Given the description of an element on the screen output the (x, y) to click on. 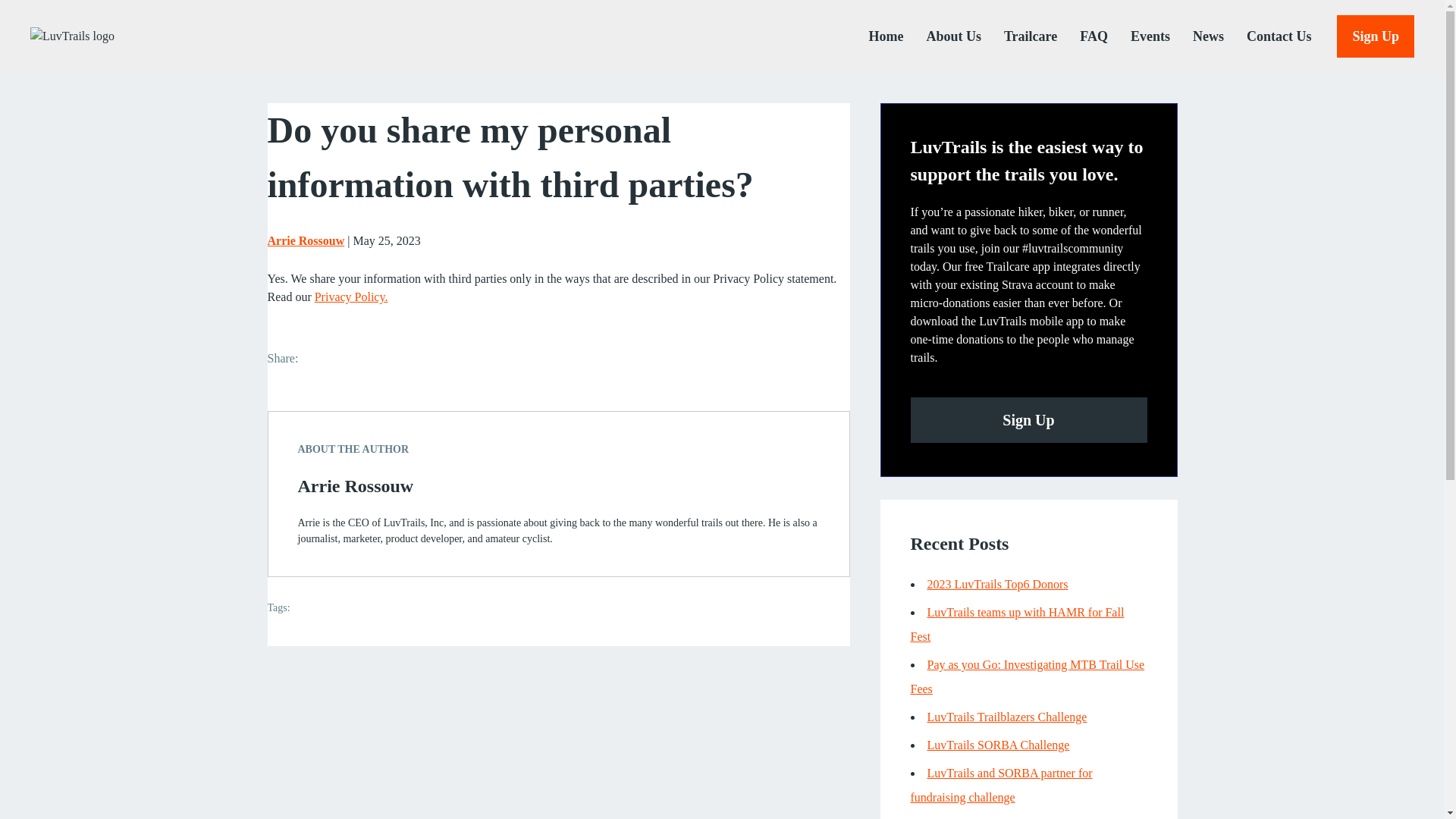
Contact Us (1267, 35)
Share via Telegram (343, 357)
Sign Up (1028, 420)
Share via LINE (388, 357)
2023 LuvTrails Top6 Donors (996, 584)
Share via Viber (373, 357)
Home (873, 35)
Trailcare (1019, 35)
Share via Signal (358, 357)
LuvTrails teams up with HAMR for Fall Fest (1017, 624)
